Given the description of an element on the screen output the (x, y) to click on. 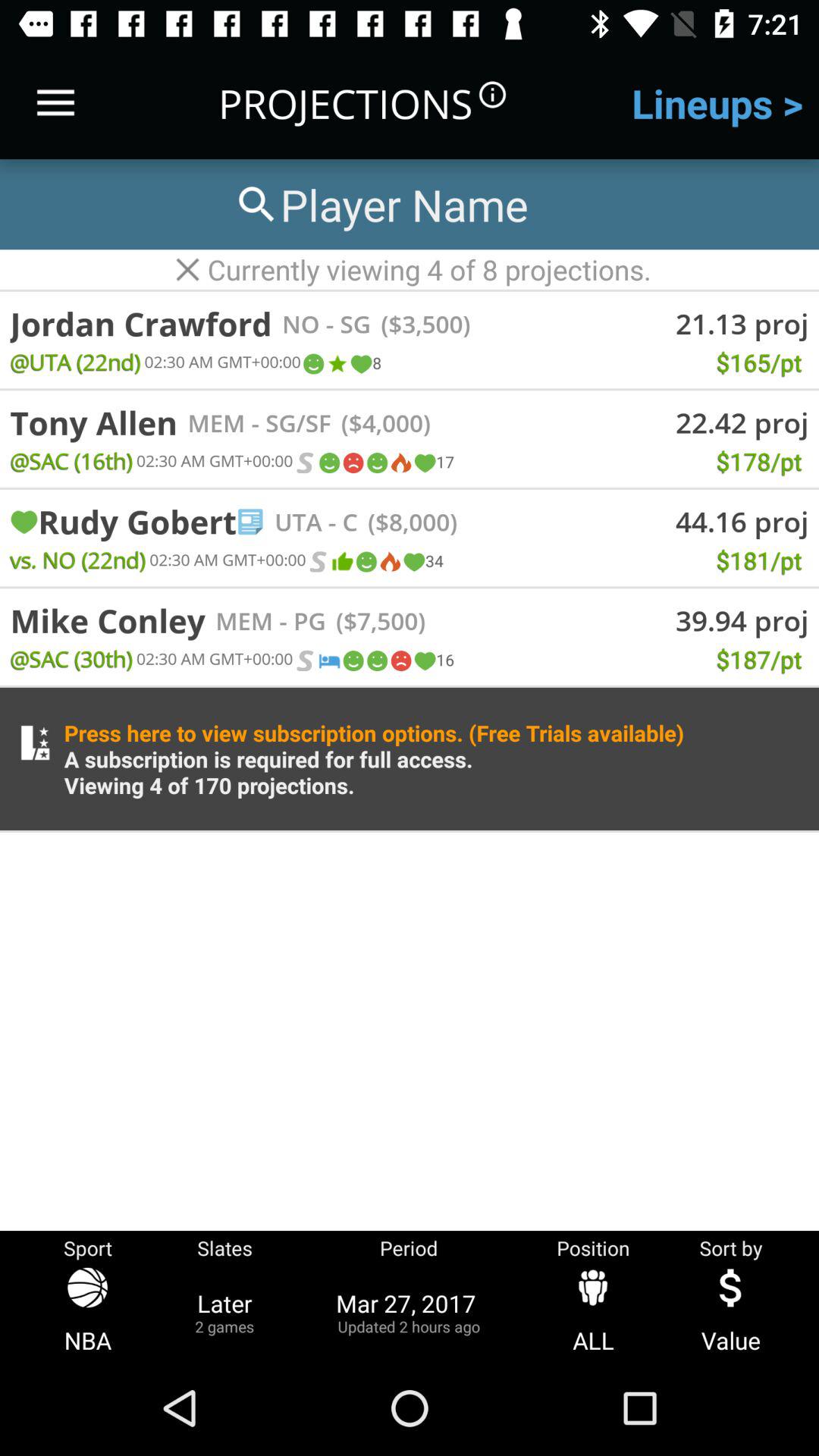
click the icon above ($8,000) icon (424, 462)
